Given the description of an element on the screen output the (x, y) to click on. 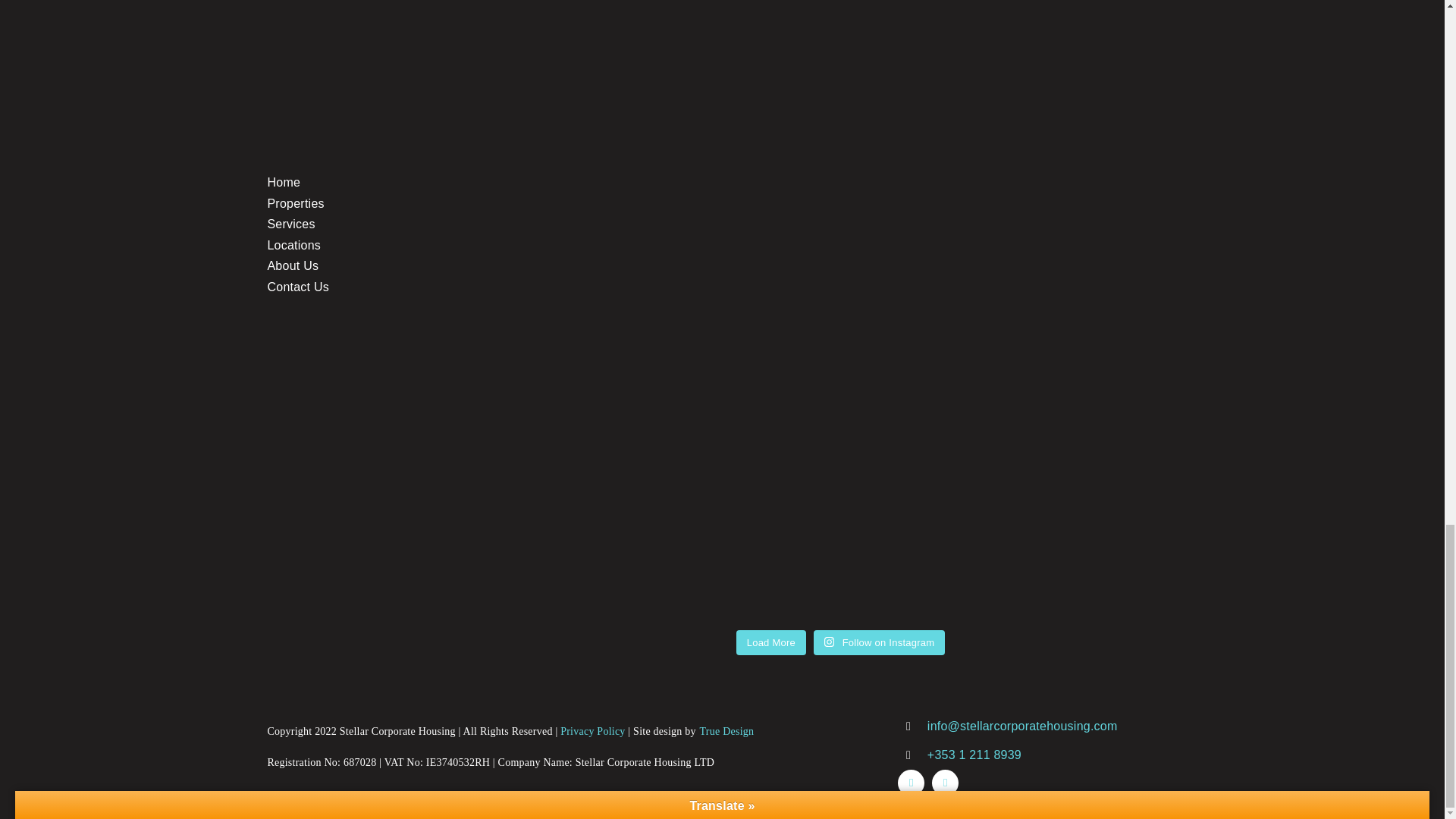
Contact Us (297, 286)
Instagram (944, 782)
Locations (293, 245)
Properties (294, 203)
Privacy Policy (592, 731)
LinkedIn (911, 782)
True Design (726, 731)
About Us (292, 265)
Load More (771, 642)
Services (290, 223)
Follow on Instagram (878, 642)
Home (282, 182)
